Given the description of an element on the screen output the (x, y) to click on. 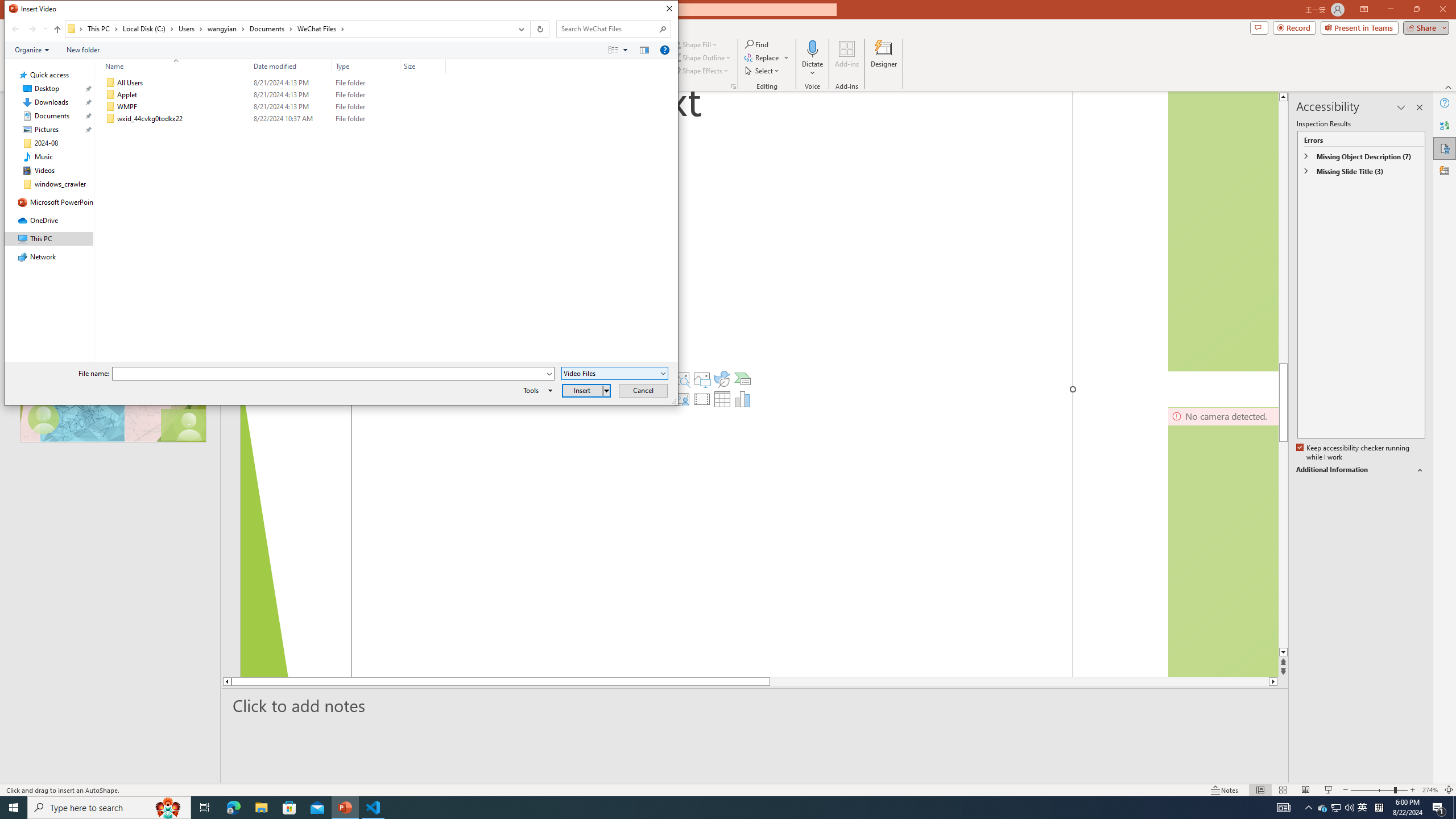
All Users (273, 82)
Search Box (607, 28)
Zoom 274% (1430, 790)
Date modified (290, 65)
Up band toolbar (57, 30)
